Given the description of an element on the screen output the (x, y) to click on. 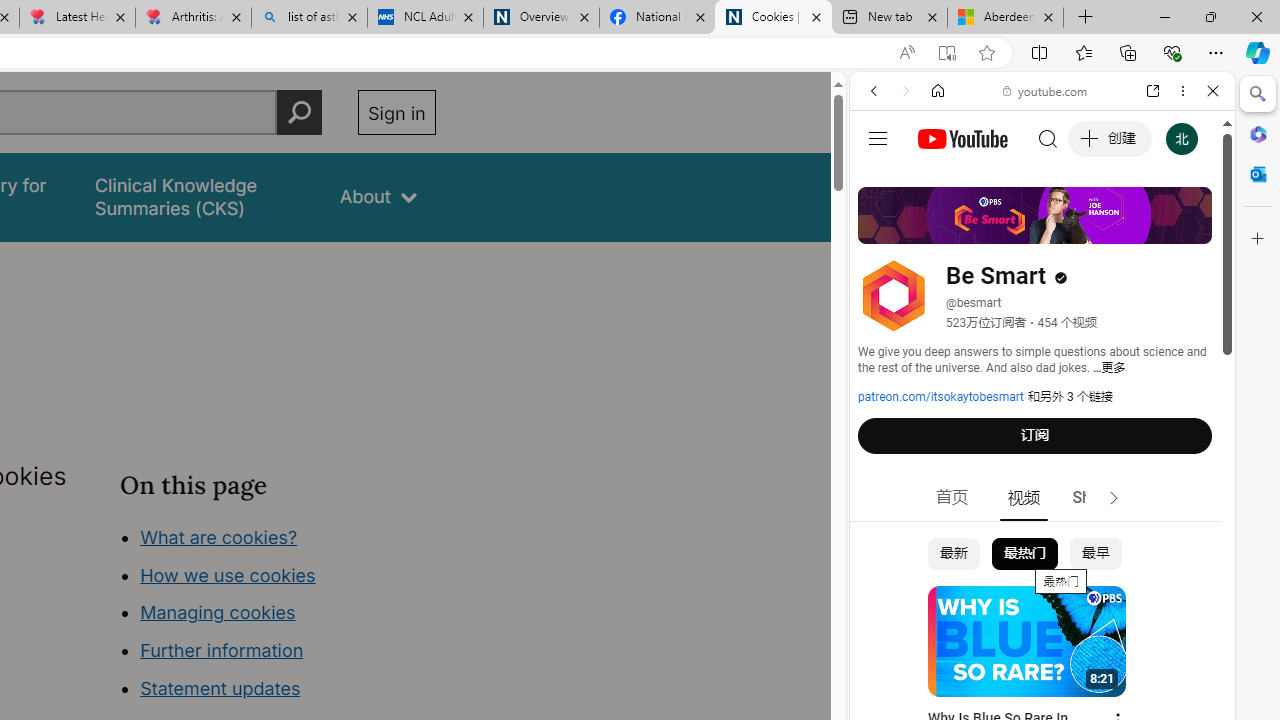
Search Filter, Search Tools (1093, 228)
Class: in-page-nav__list (277, 615)
Show More Music (1164, 546)
Music (1042, 543)
AutomationID: right (1113, 497)
